Given the description of an element on the screen output the (x, y) to click on. 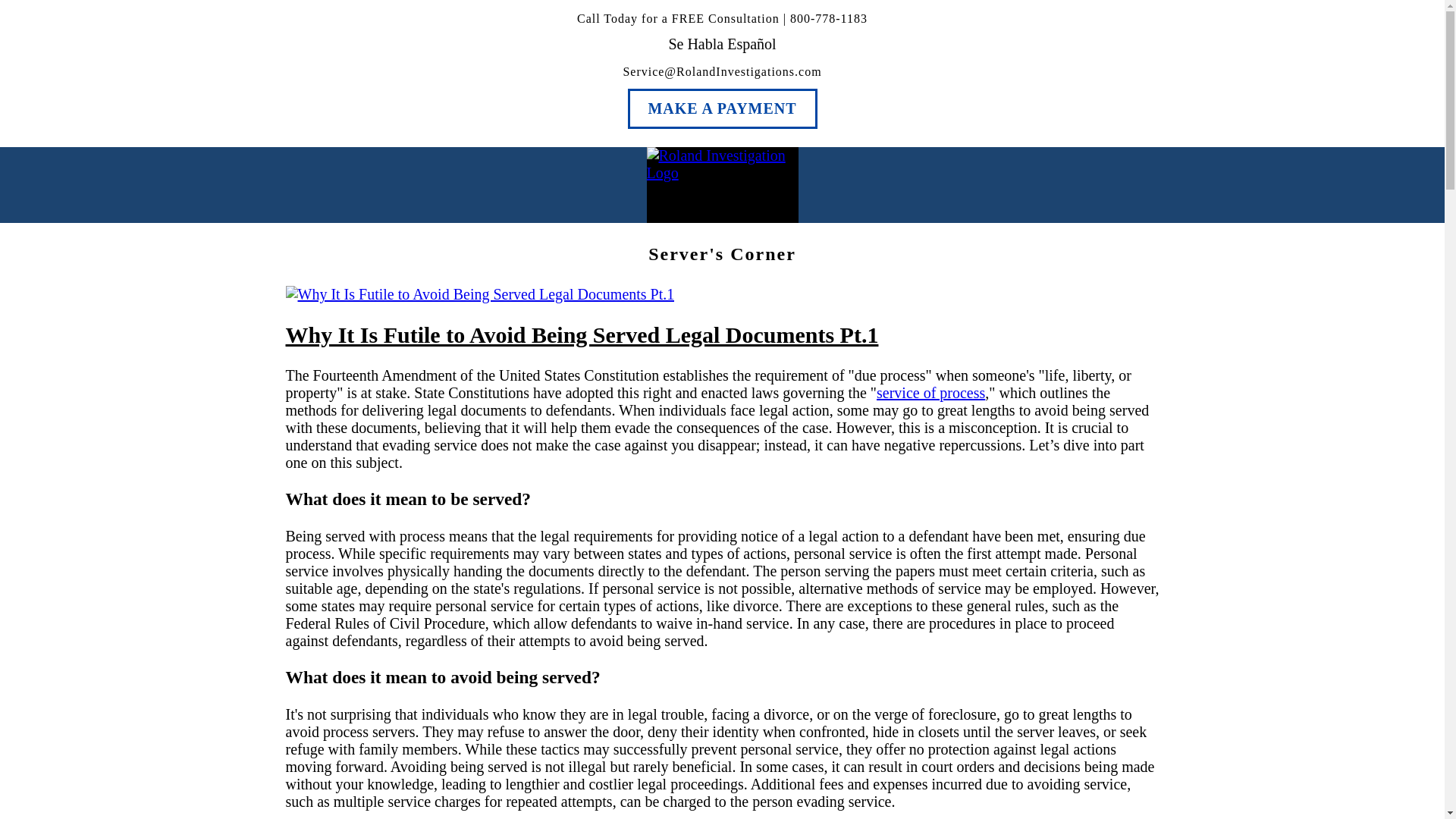
Why It Is Futile to Avoid Being Served Legal Documents Pt.1 (479, 294)
service of process (930, 392)
Roland Investigation Logo (721, 164)
MAKE A PAYMENT (721, 108)
Why It Is Futile to Avoid Being Served Legal Documents Pt.1 (581, 334)
Roland Investigation (721, 184)
